Given the description of an element on the screen output the (x, y) to click on. 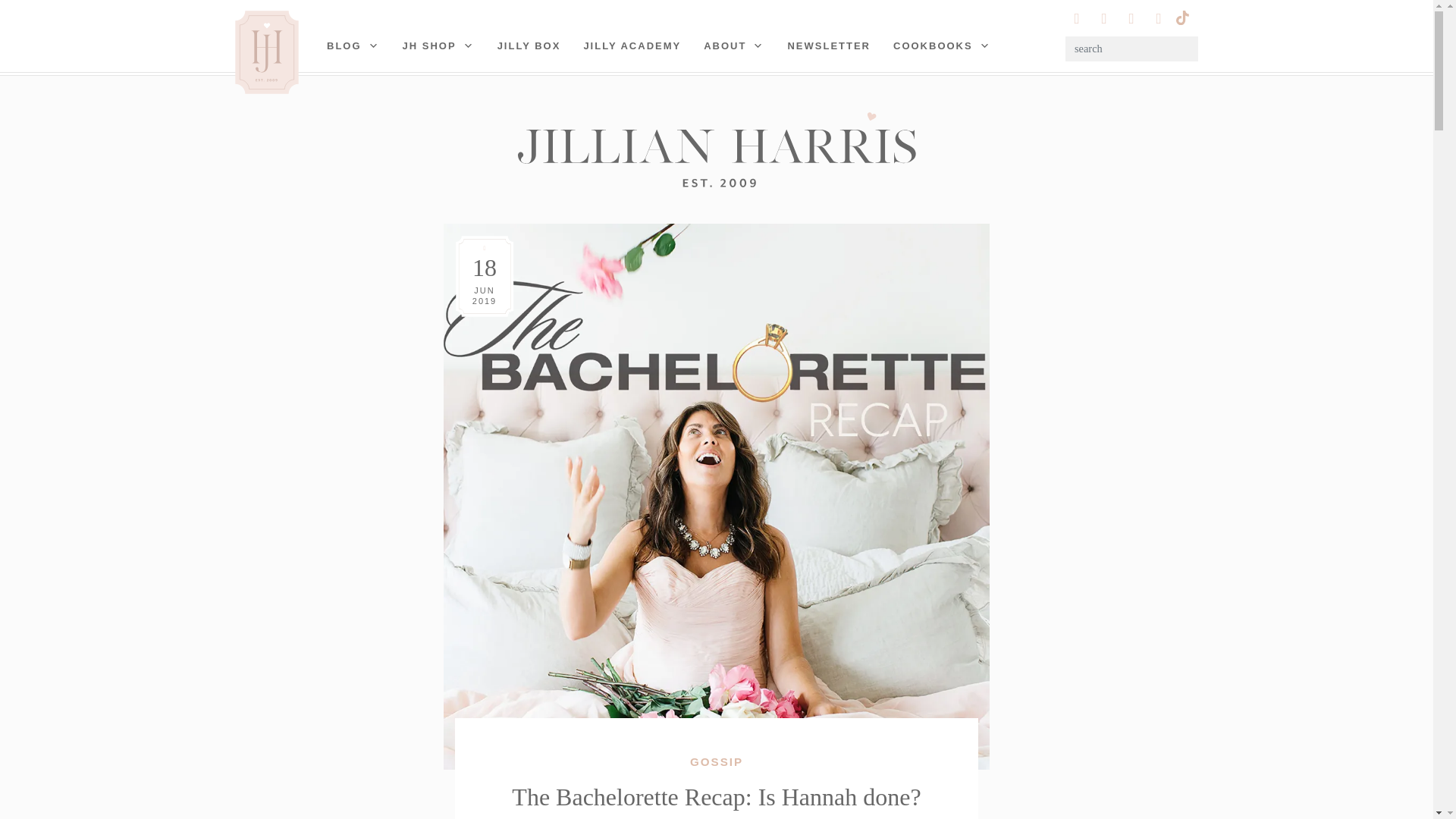
Jillian Harris Design Inc. (716, 149)
Visit our tiktok account (1181, 15)
BLOG (353, 46)
Visit our facebook account (1158, 18)
Visit our youtube account (1130, 18)
Visit our instagram account (1076, 18)
Visit our pinterest account (1104, 18)
